Given the description of an element on the screen output the (x, y) to click on. 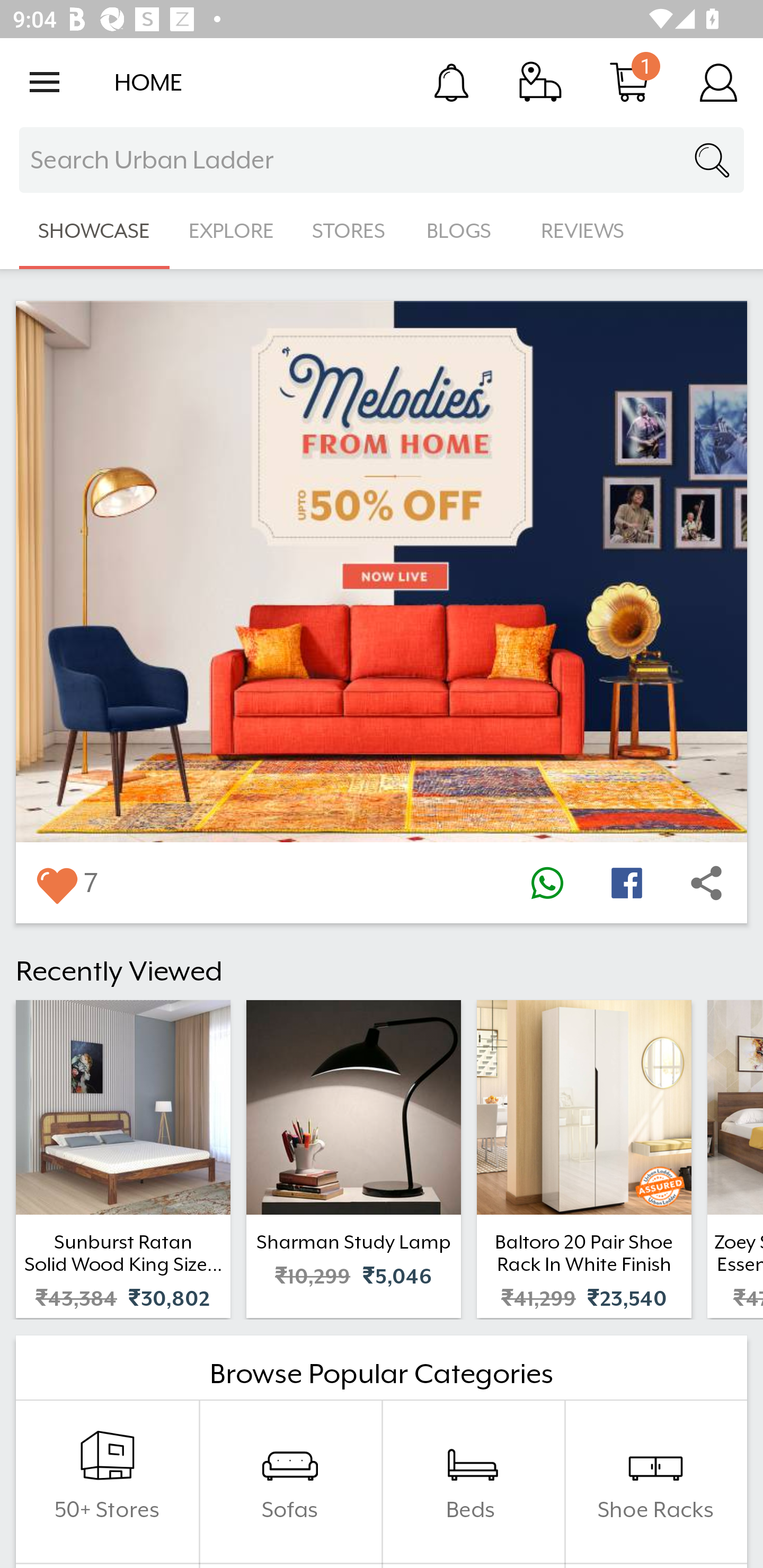
Open navigation drawer (44, 82)
Notification (450, 81)
Track Order (540, 81)
Cart (629, 81)
Account Details (718, 81)
Search Urban Ladder  (381, 159)
SHOWCASE (94, 230)
EXPLORE (230, 230)
STORES (349, 230)
BLOGS (464, 230)
REVIEWS (582, 230)
 (55, 882)
 (547, 882)
 (626, 882)
 (706, 882)
Sharman Study Lamp ₹10,299 ₹5,046 (353, 1159)
50+ Stores (106, 1481)
Sofas (289, 1481)
Beds  (473, 1481)
Shoe Racks (655, 1481)
